Given the description of an element on the screen output the (x, y) to click on. 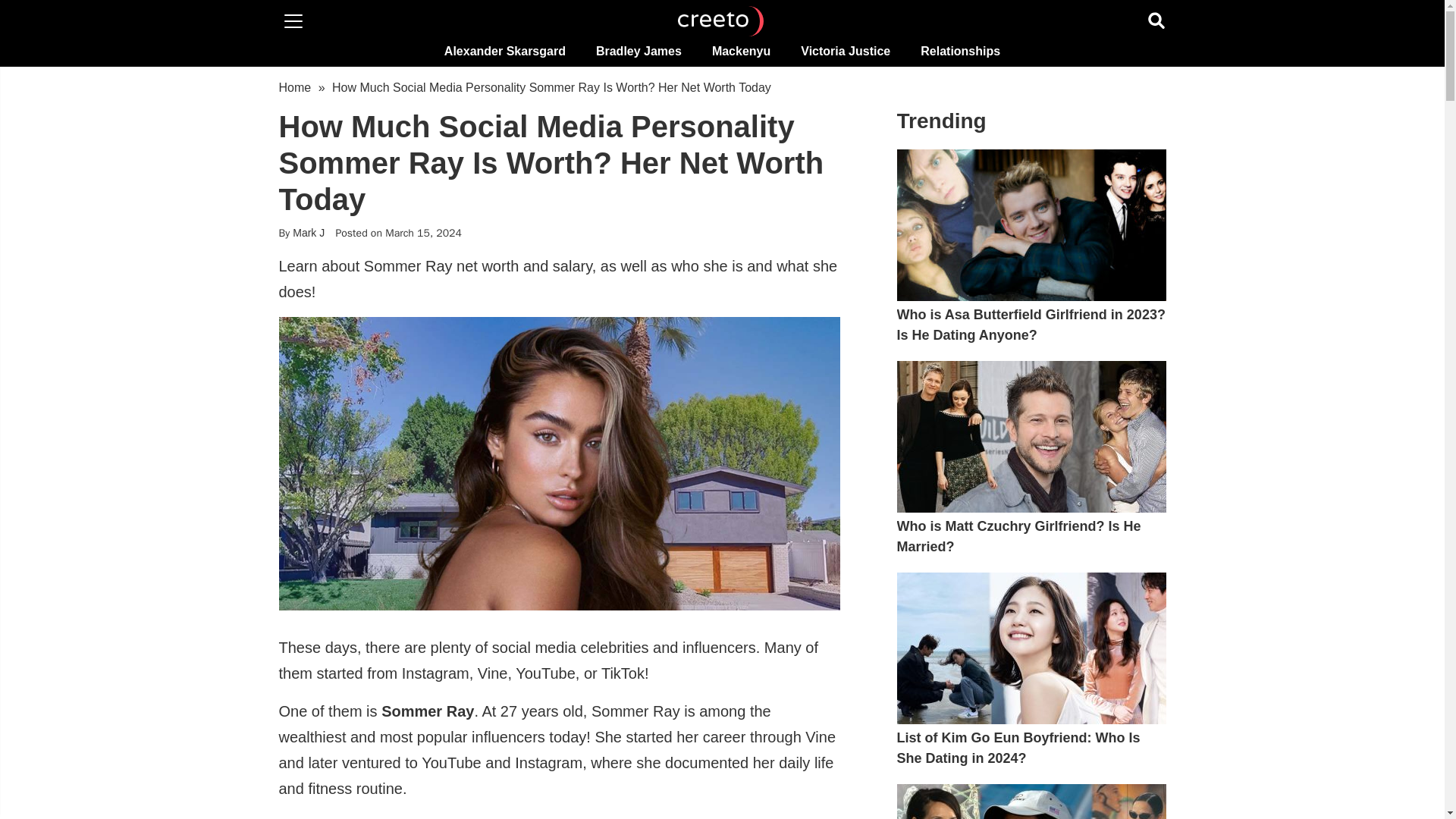
Victoria Justice (845, 51)
Mark J (308, 232)
Relationships (959, 51)
Bradley James (638, 51)
Home (295, 87)
Posts by Mark J (308, 232)
Alexander Skarsgard (504, 51)
Mackenyu (741, 51)
